Given the description of an element on the screen output the (x, y) to click on. 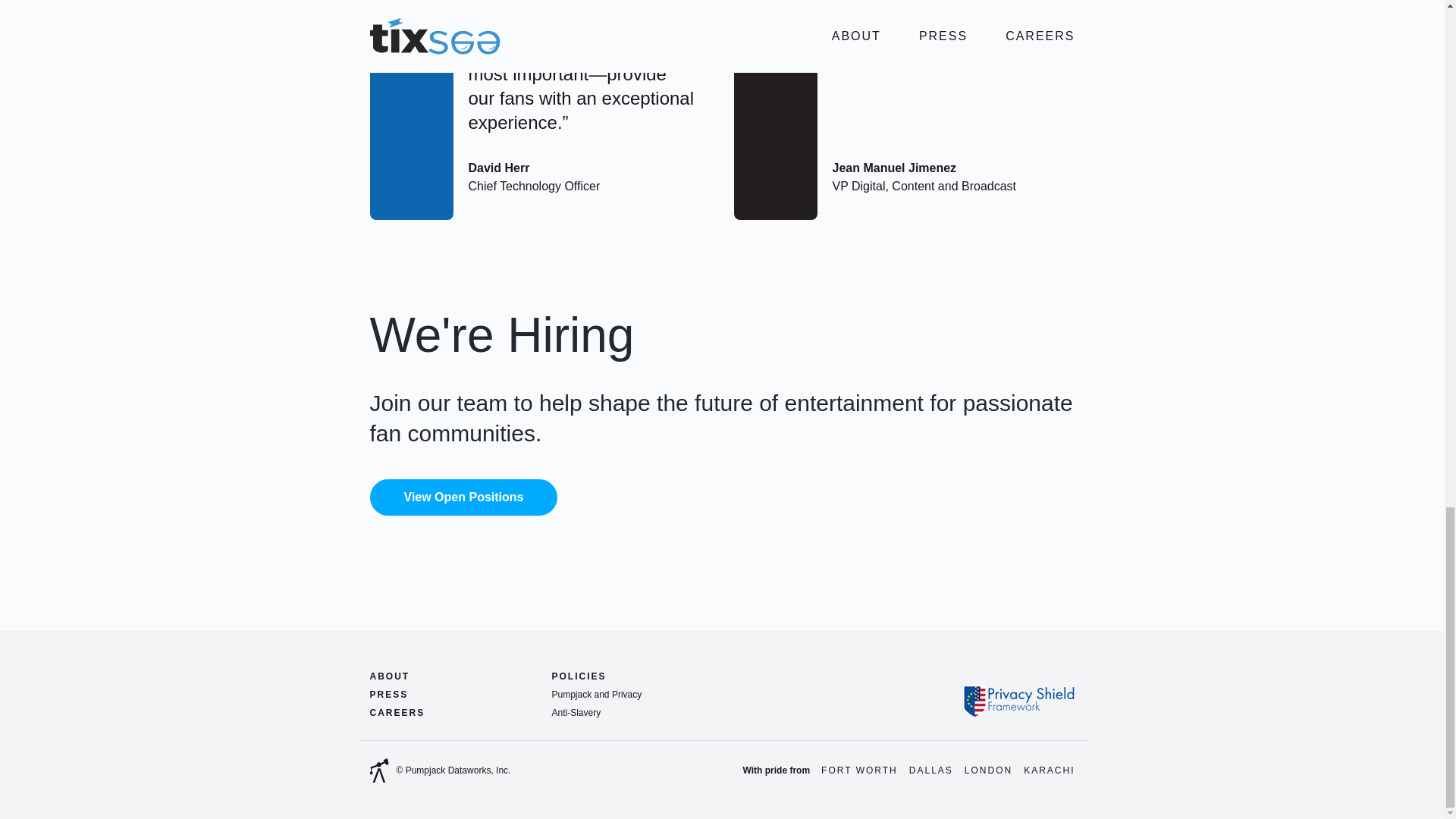
ABOUT (389, 676)
PRESS (389, 694)
CAREERS (397, 712)
Pumpjack and Privacy (596, 694)
View Open Positions (463, 497)
Anti-Slavery (576, 712)
